Given the description of an element on the screen output the (x, y) to click on. 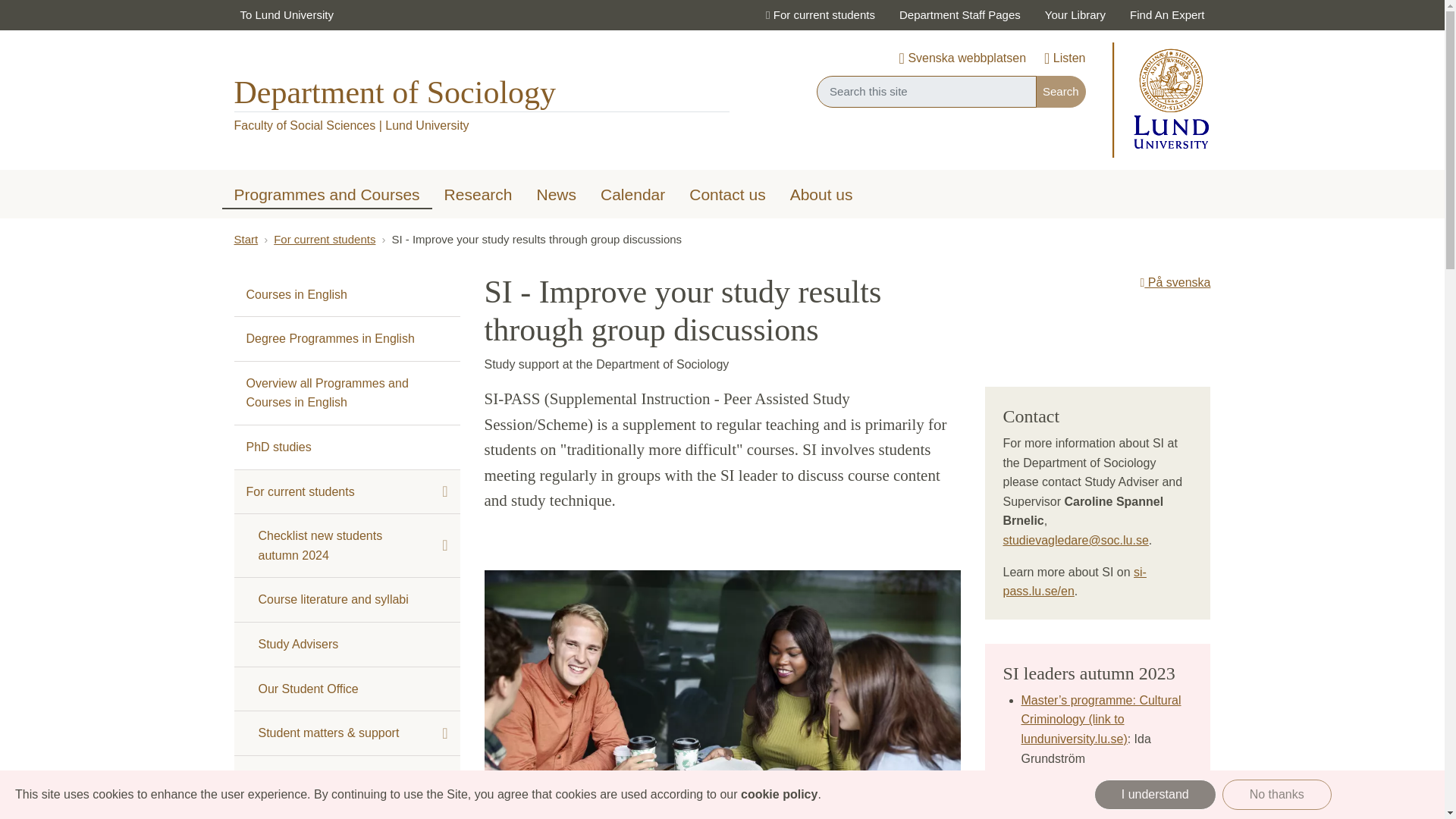
No thanks (1277, 794)
Search (1060, 91)
Find An Expert (1166, 15)
I understand (1154, 794)
Programmes and Courses (325, 192)
Your Library (1075, 15)
Department of Sociology (394, 92)
For current students (818, 15)
Svenska webbplatsen (962, 59)
cookie policy (778, 793)
To Lund University (286, 15)
Research (478, 195)
Department Staff Pages (959, 15)
Listen (1063, 59)
Search (1060, 91)
